Given the description of an element on the screen output the (x, y) to click on. 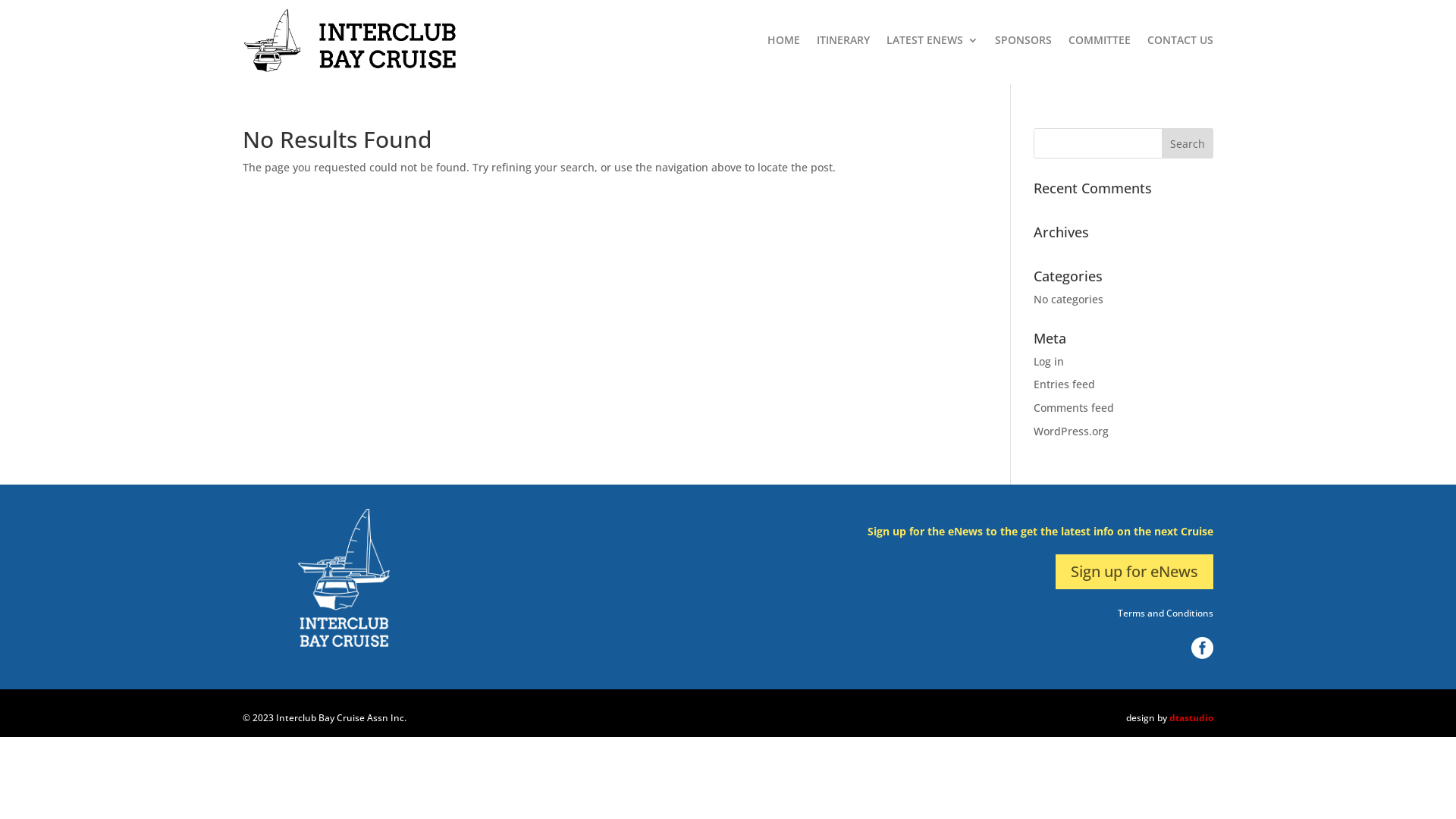
HOME Element type: text (783, 40)
Sign up for eNews Element type: text (1134, 571)
WordPress.org Element type: text (1070, 430)
SPONSORS Element type: text (1022, 40)
COMMITTEE Element type: text (1099, 40)
ITINERARY Element type: text (842, 40)
ICBC_Logo_wtext_white_outlines Element type: hover (343, 577)
CONTACT US Element type: text (1180, 40)
LATEST ENEWS Element type: text (932, 40)
Search Element type: text (1187, 143)
Comments feed Element type: text (1073, 407)
Entries feed Element type: text (1064, 383)
Log in Element type: text (1048, 361)
Terms and Conditions Element type: text (1165, 612)
